Given the description of an element on the screen output the (x, y) to click on. 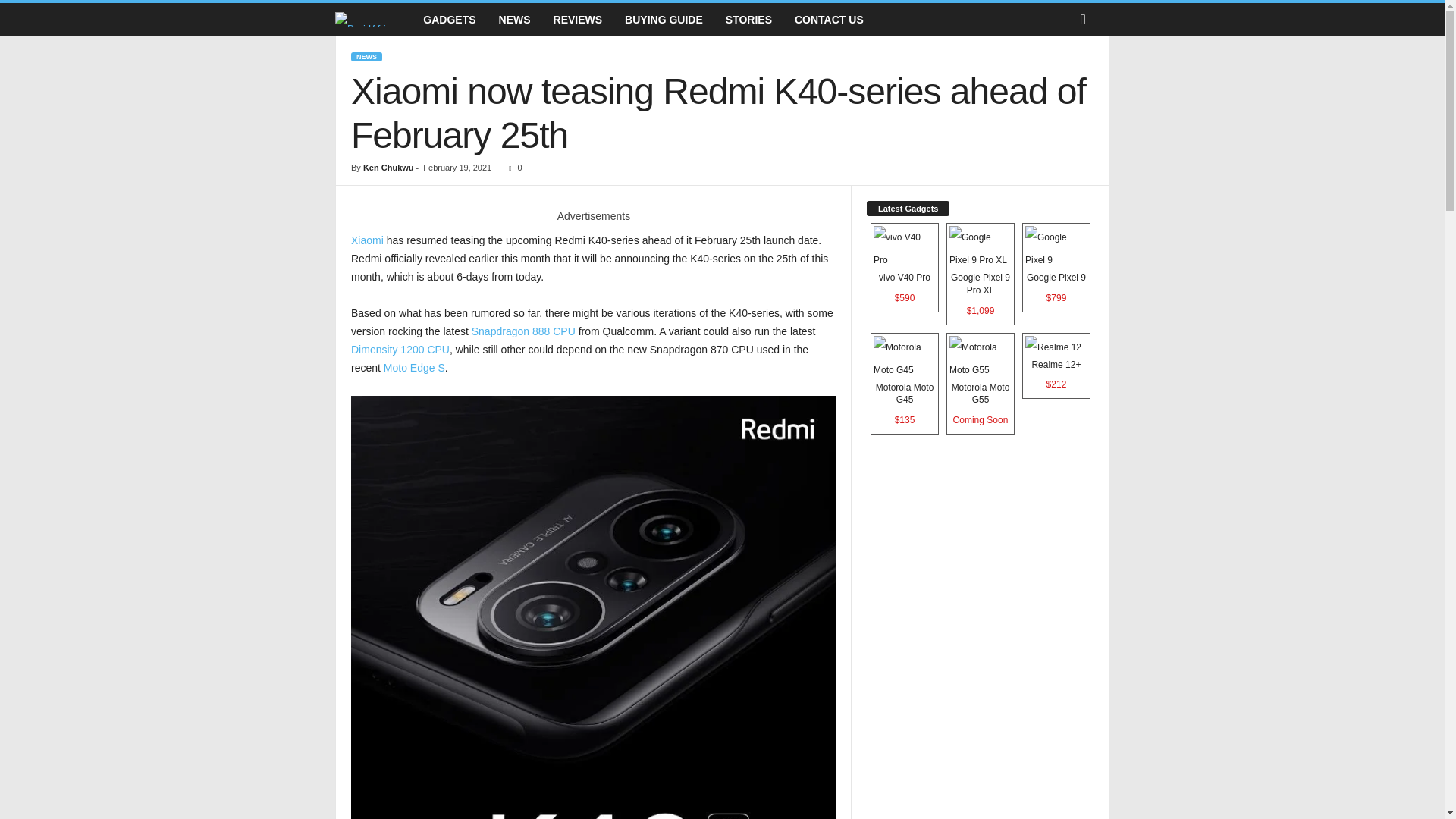
Moto Edge S (414, 367)
REVIEWS (577, 19)
NEWS (365, 56)
Xiaomi (367, 240)
DroidAfrica (373, 19)
GADGETS (449, 19)
CONTACT US (829, 19)
STORIES (748, 19)
Tech News, Specs, Unboxing and Reviews (365, 19)
